Given the description of an element on the screen output the (x, y) to click on. 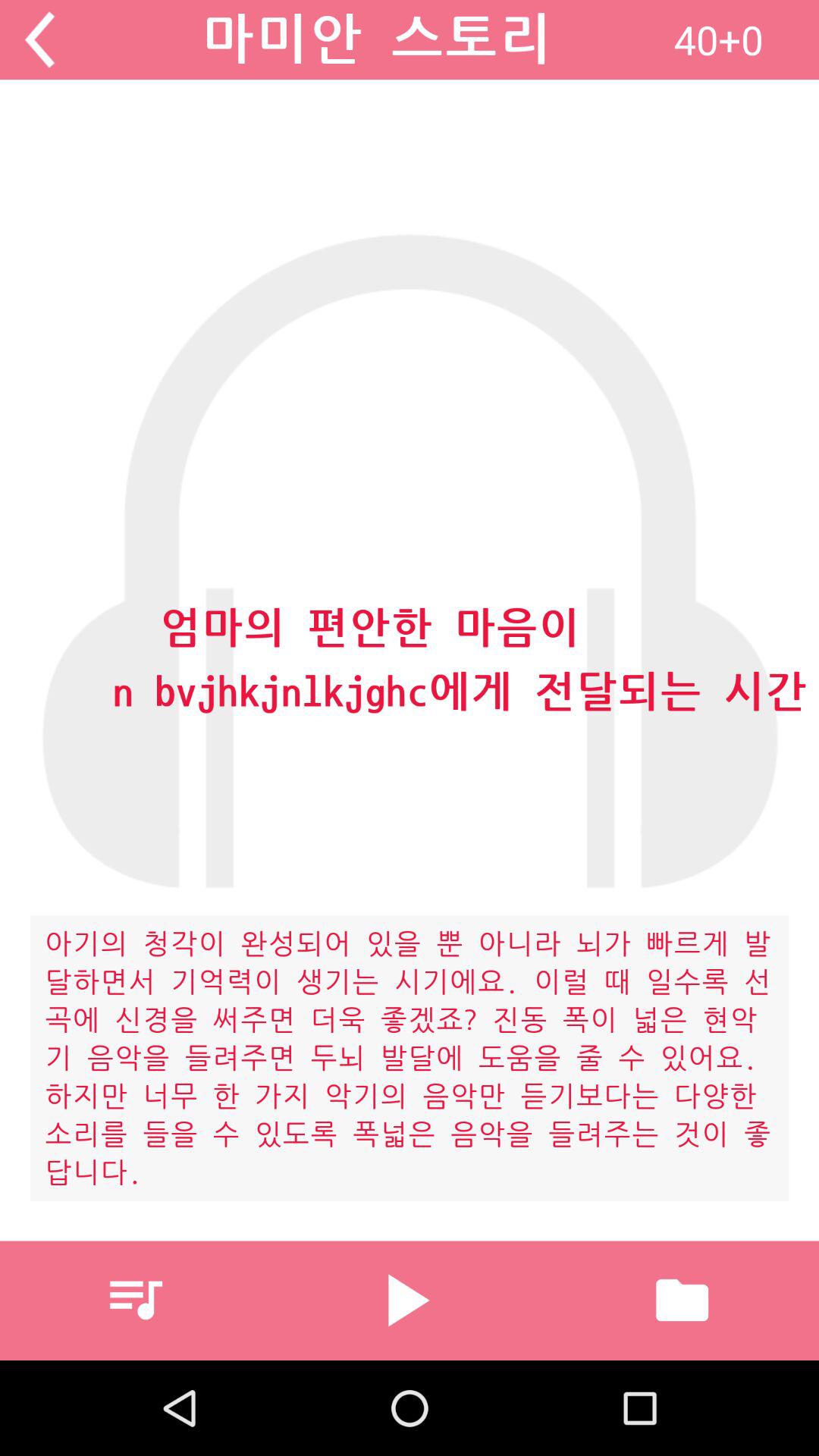
click icon at the bottom right corner (682, 1300)
